Given the description of an element on the screen output the (x, y) to click on. 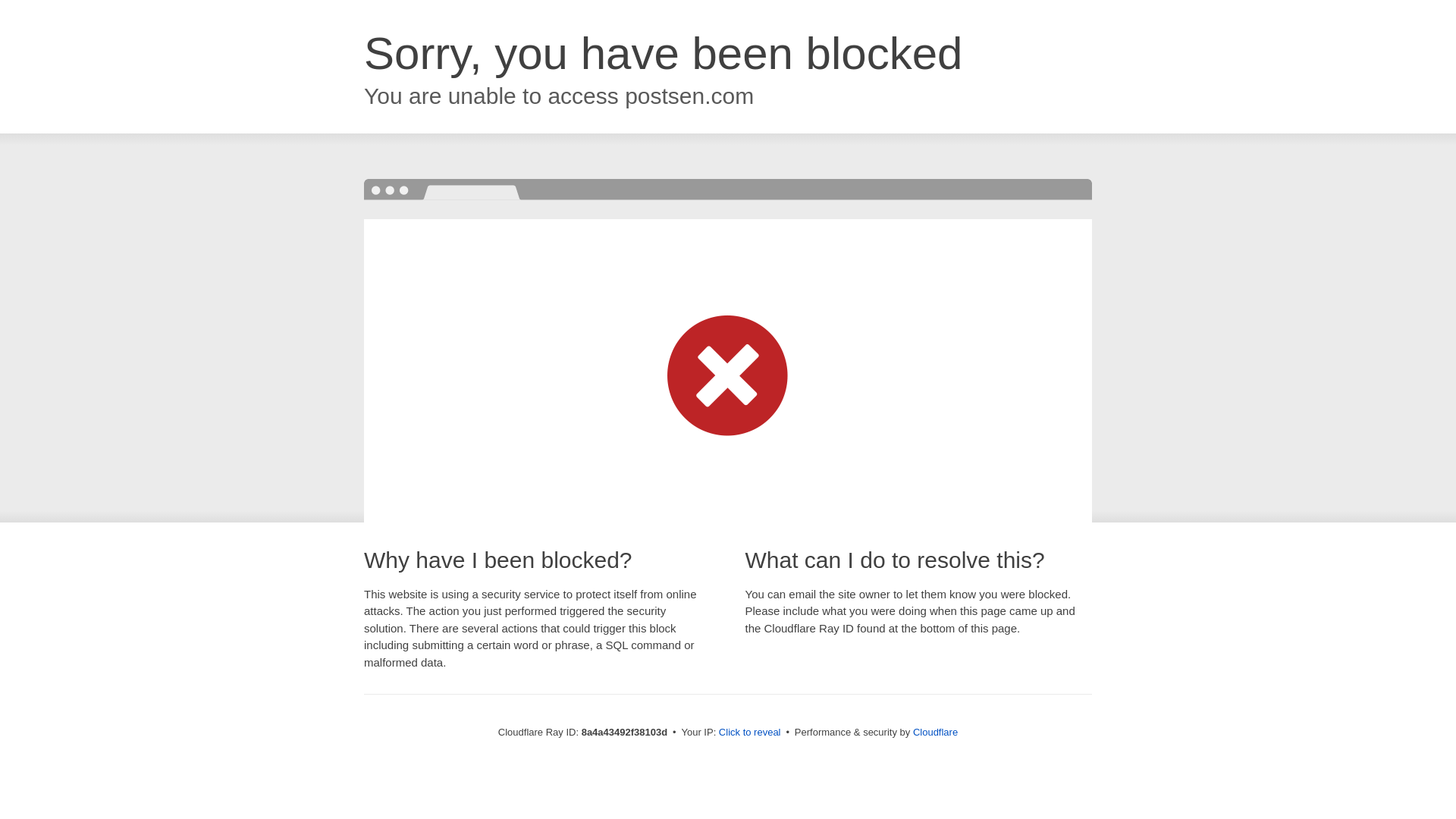
Click to reveal (749, 732)
Cloudflare (935, 731)
